Given the description of an element on the screen output the (x, y) to click on. 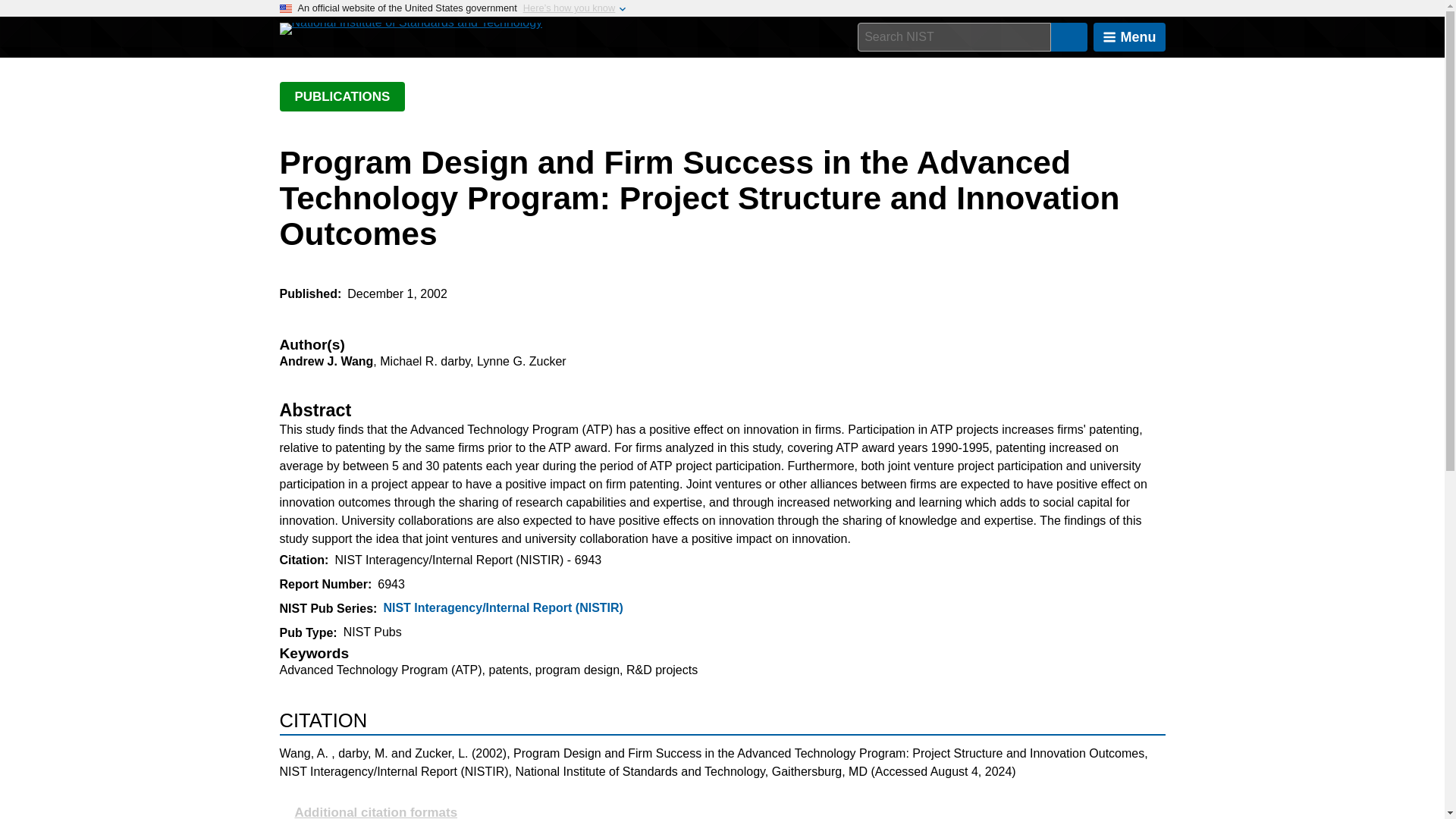
National Institute of Standards and Technology (410, 28)
Menu (1129, 36)
